Given the description of an element on the screen output the (x, y) to click on. 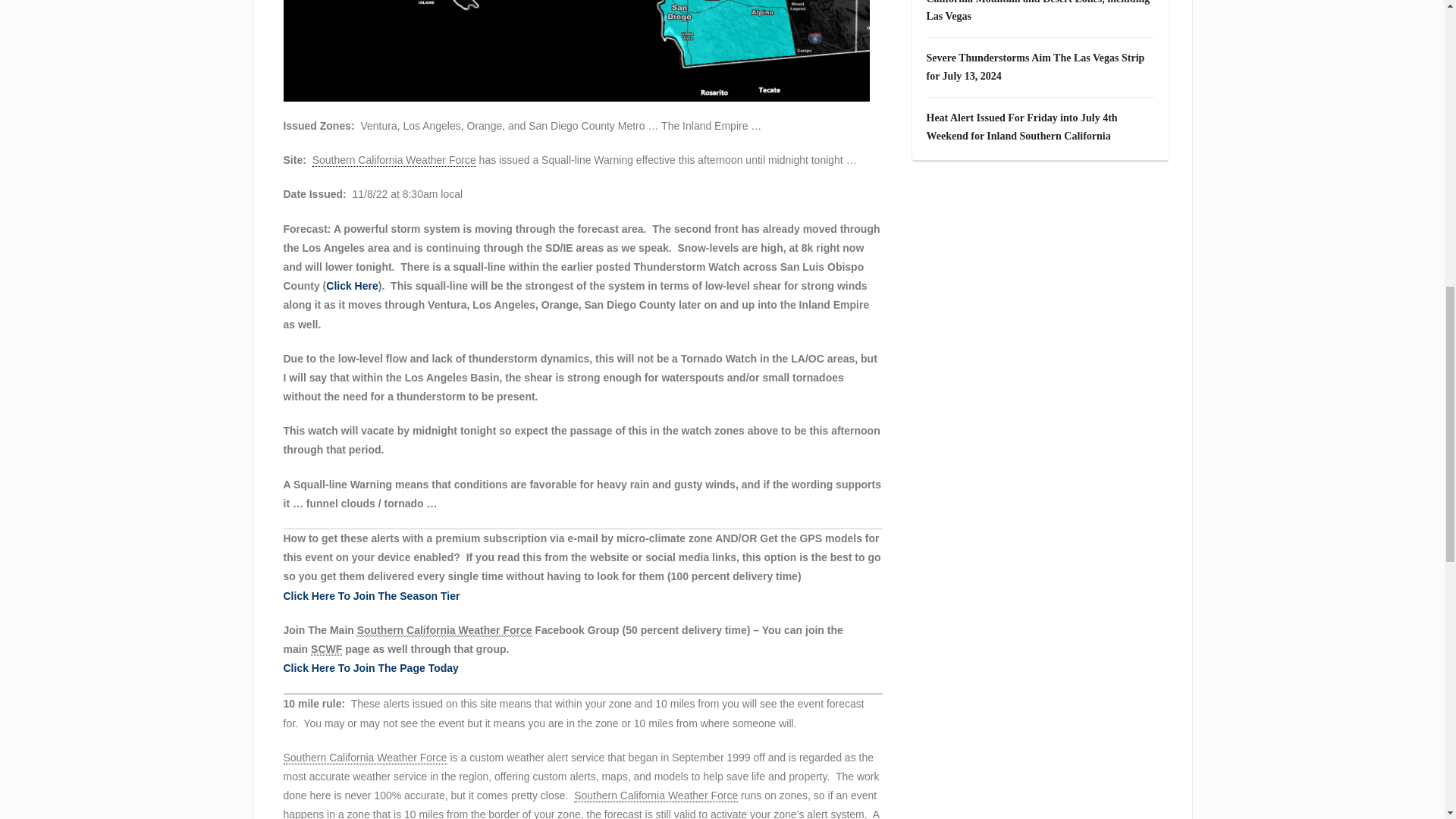
Southern California's Most Accurate Weather Service Office. (394, 160)
Click Here To Join The Page Today (370, 667)
Southern California's Most Accurate Weather Service Office. (655, 795)
Southern California's Most Accurate Weather Service Office. (364, 757)
Click Here To Join The Season Tier (371, 595)
Click Here (351, 285)
